Given the description of an element on the screen output the (x, y) to click on. 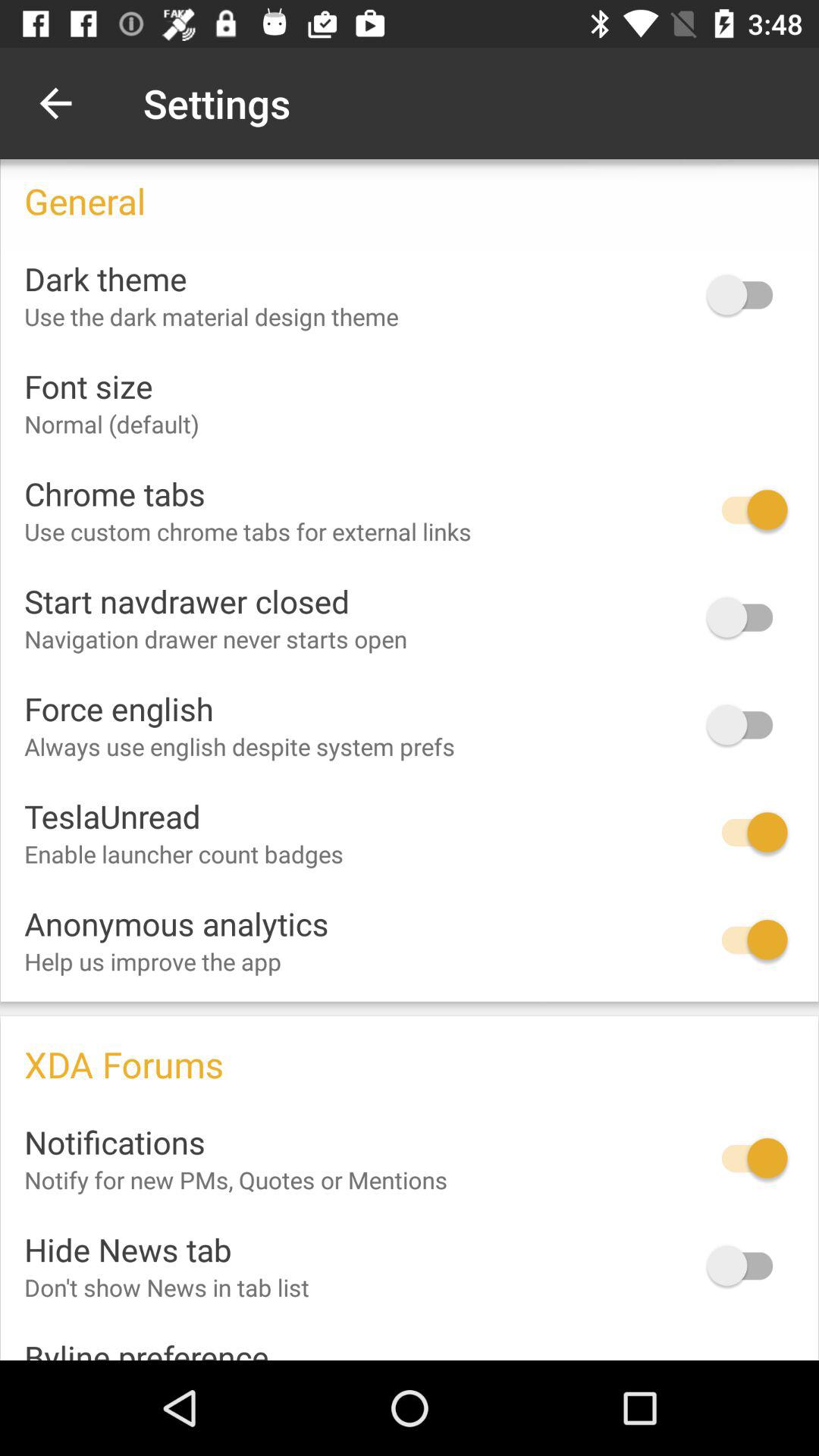
toggle hide news tab option (747, 1265)
